Given the description of an element on the screen output the (x, y) to click on. 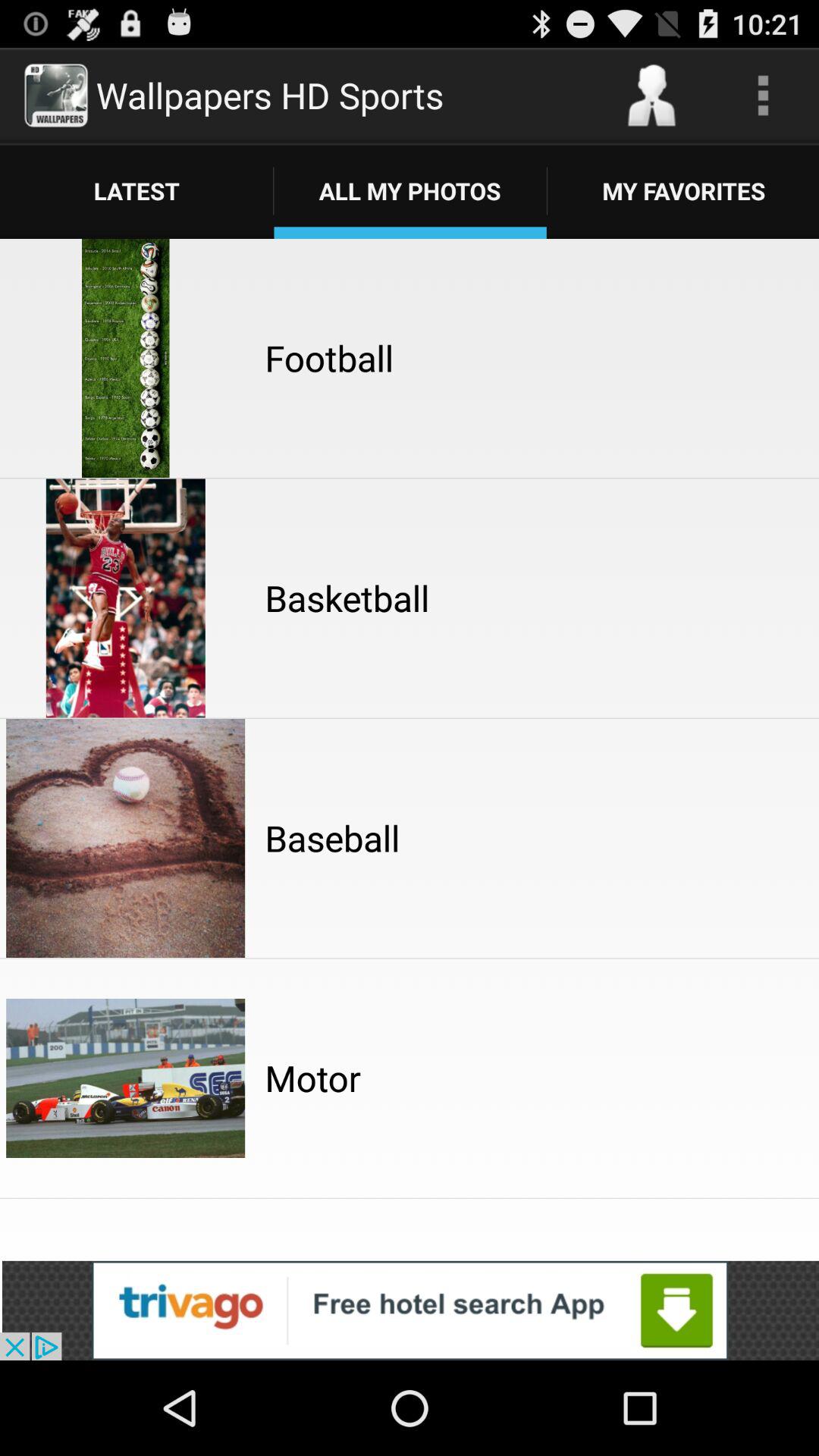
adiveristment (409, 1310)
